Given the description of an element on the screen output the (x, y) to click on. 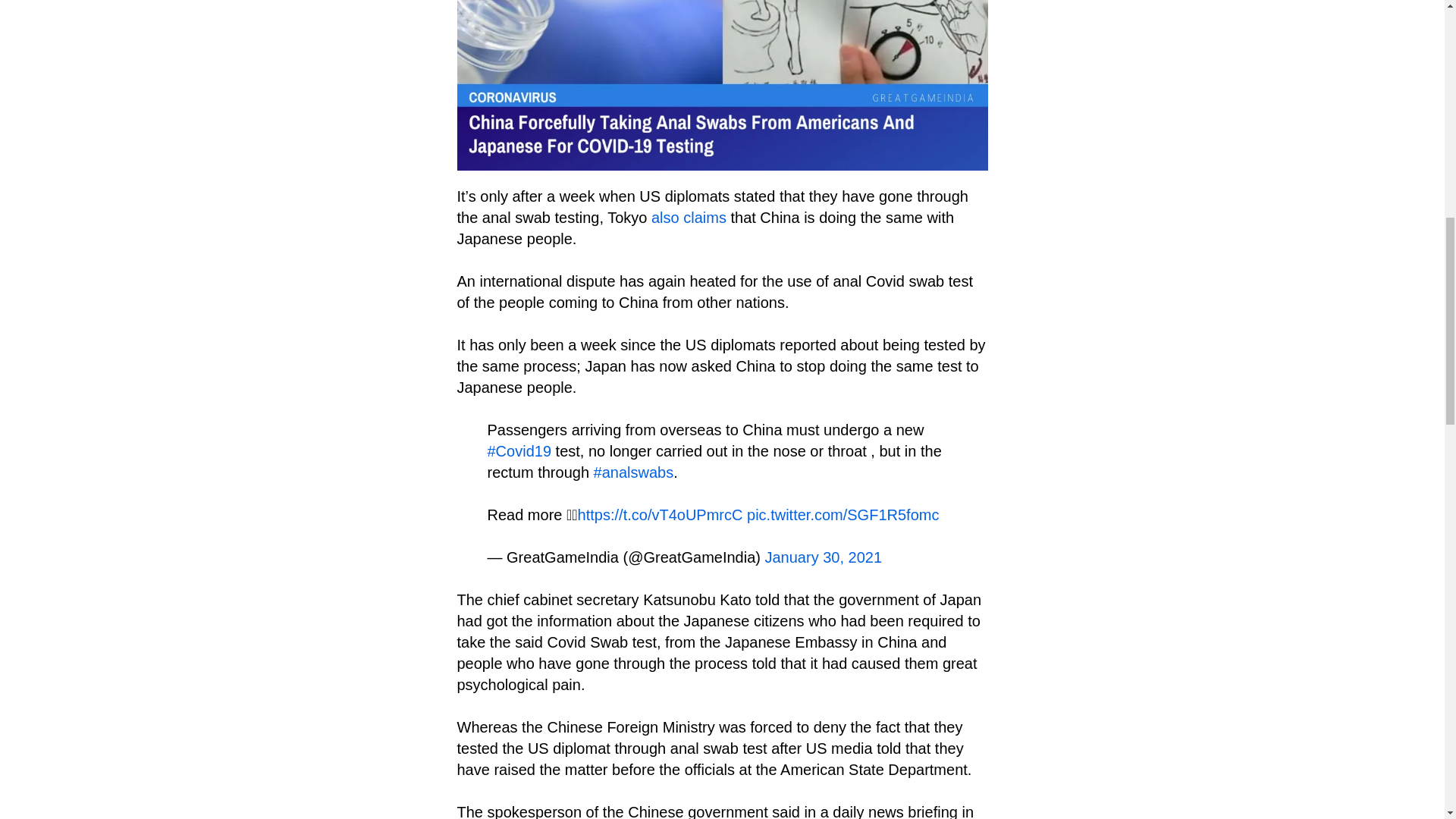
January 30, 2021 (823, 556)
also claims (688, 217)
